Given the description of an element on the screen output the (x, y) to click on. 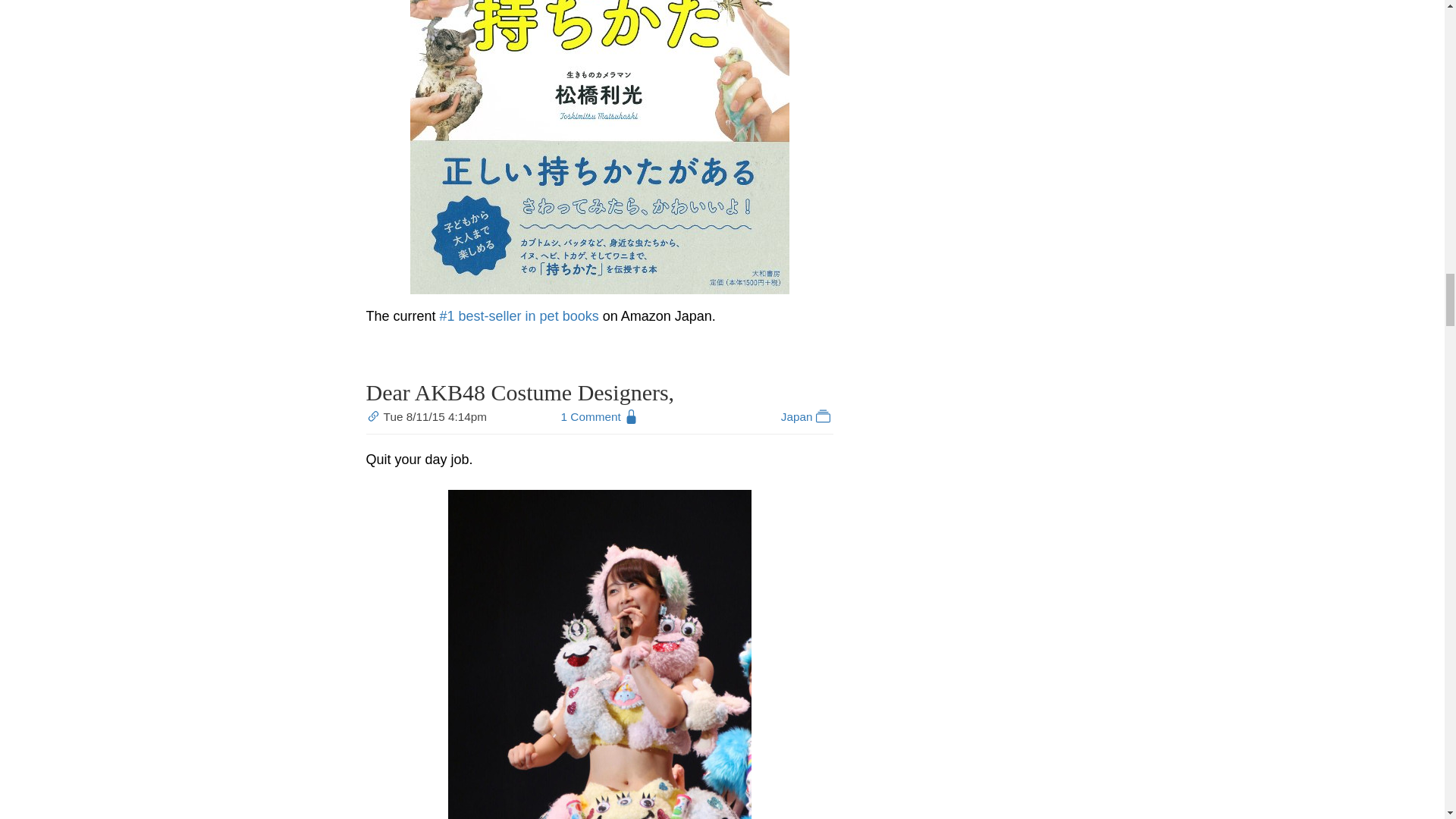
Japan   (806, 416)
1 Comment (590, 416)
